Given the description of an element on the screen output the (x, y) to click on. 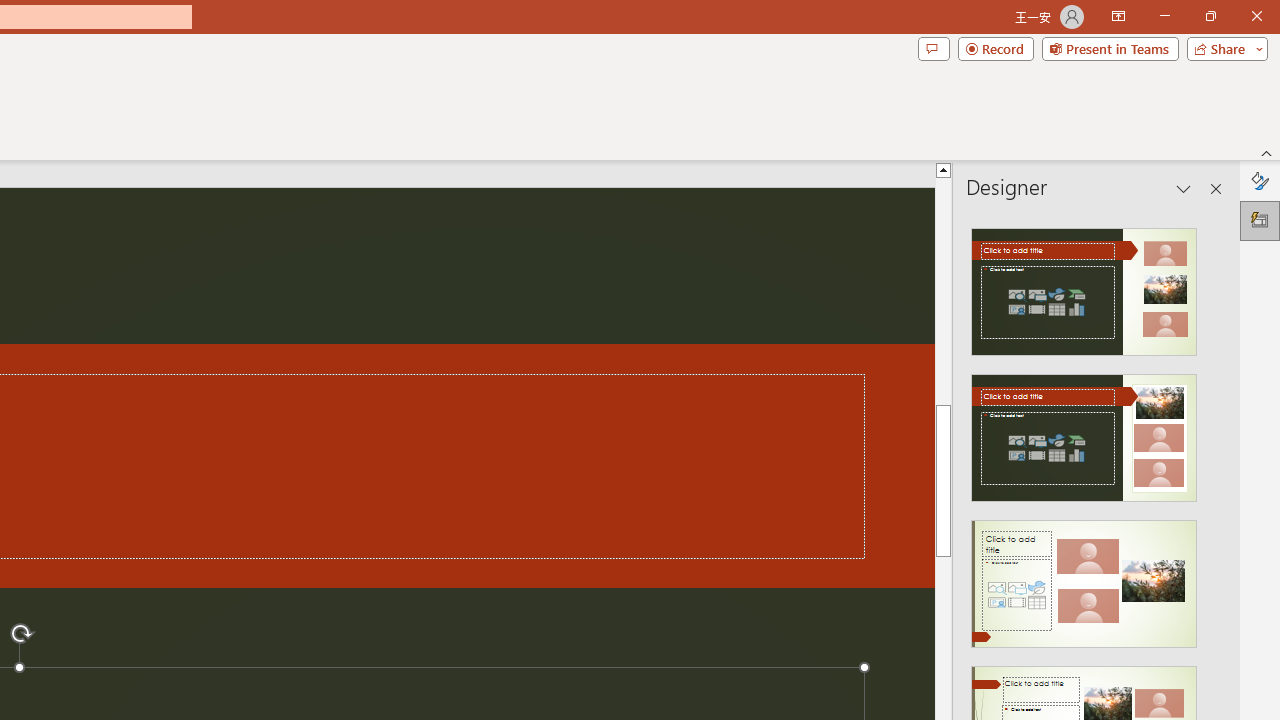
Recommended Design: Design Idea (1083, 286)
Format Background (1260, 180)
